Given the description of an element on the screen output the (x, y) to click on. 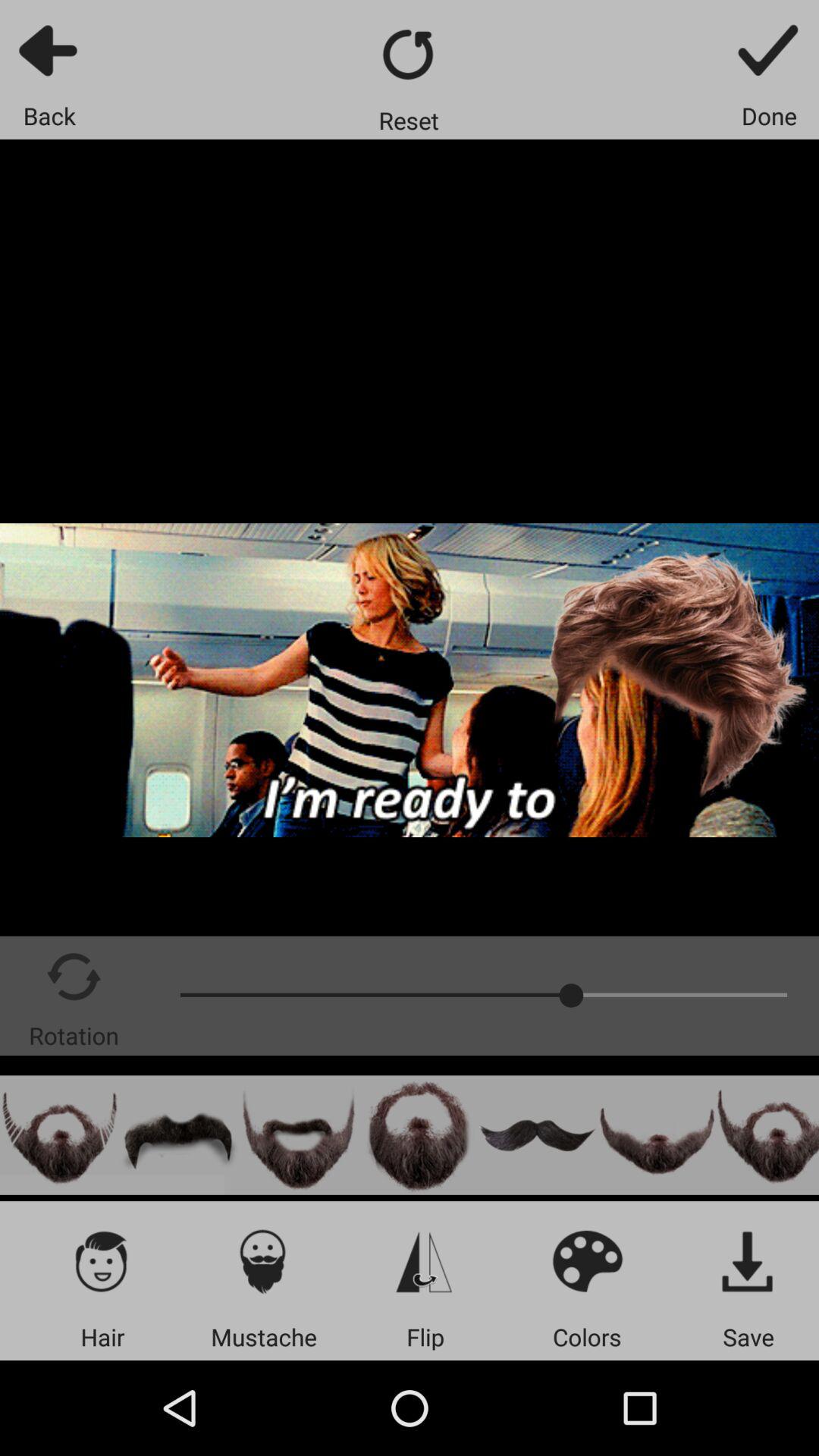
finish editing (769, 49)
